Given the description of an element on the screen output the (x, y) to click on. 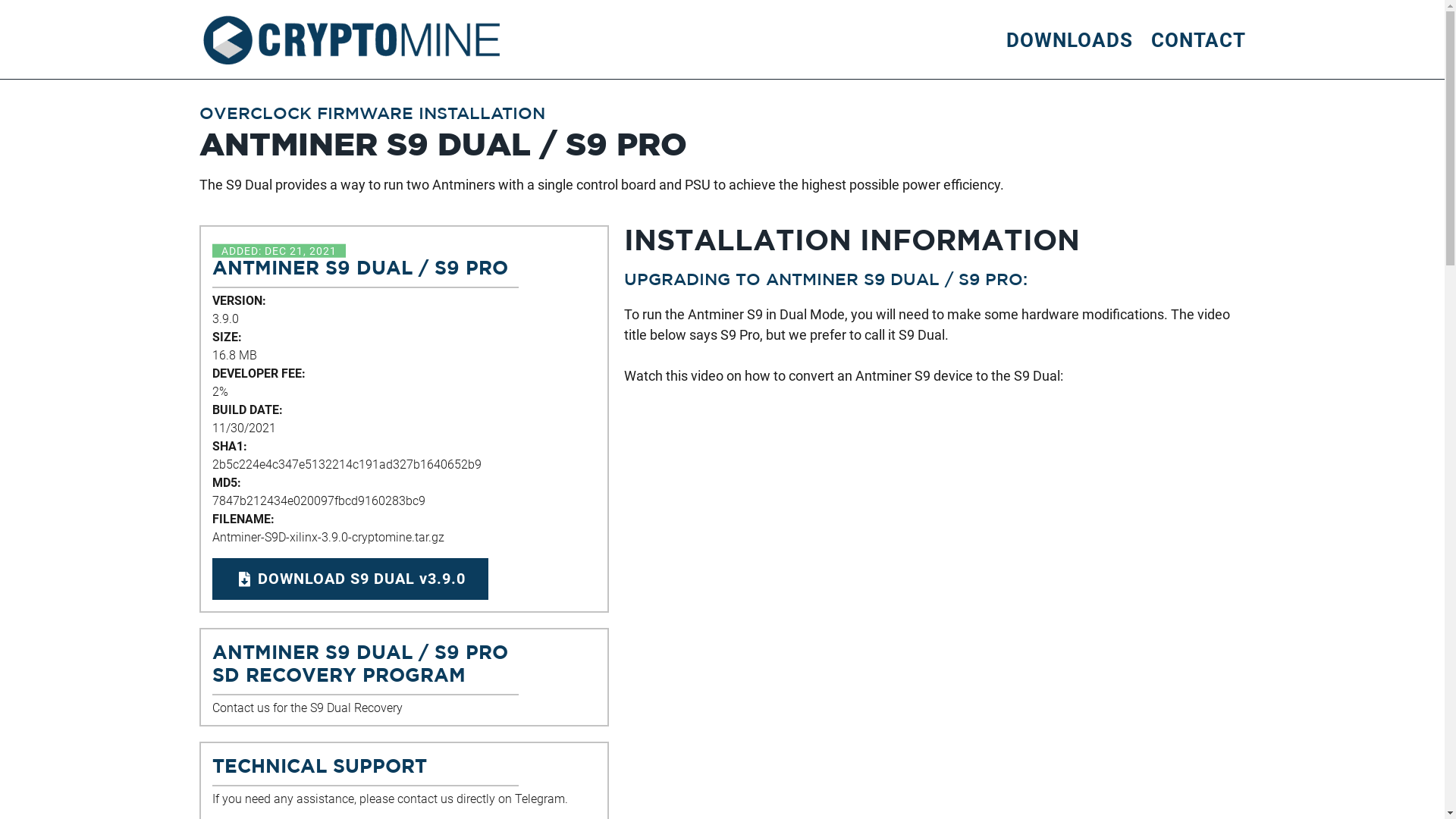
DOWNLOADS Element type: text (1069, 39)
CONTACT Element type: text (1197, 39)
